Given the description of an element on the screen output the (x, y) to click on. 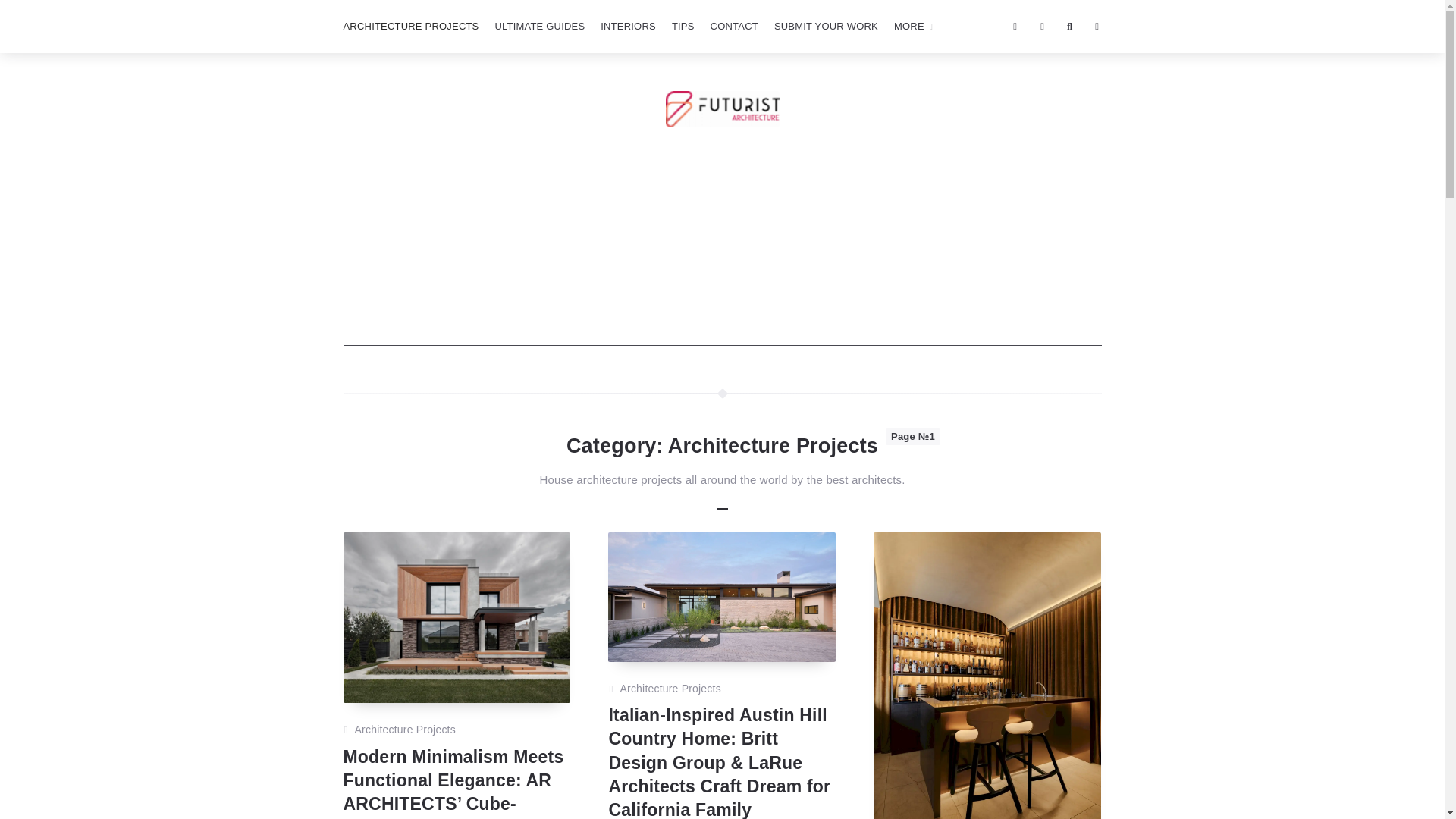
ARCHITECTURE PROJECTS (410, 26)
SUBMIT YOUR WORK (825, 26)
MORE (913, 26)
ULTIMATE GUIDES (539, 26)
INTERIORS (628, 26)
CONTACT (734, 26)
